Given the description of an element on the screen output the (x, y) to click on. 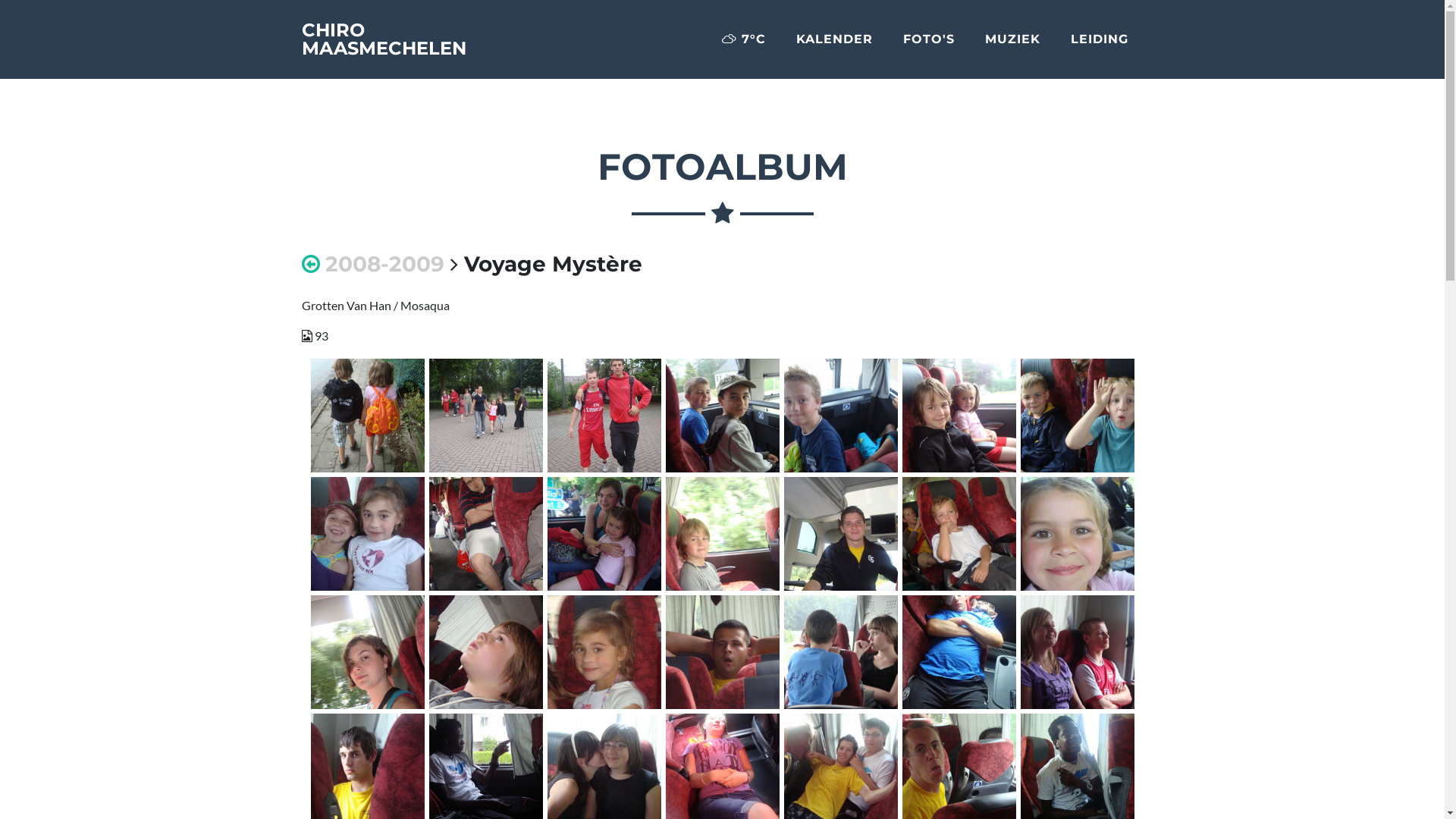
FOTO'S Element type: text (928, 39)
CHIRO
MAASMECHELEN Element type: text (383, 39)
LEIDING Element type: text (1099, 39)
KALENDER Element type: text (834, 39)
MUZIEK Element type: text (1011, 39)
